Given the description of an element on the screen output the (x, y) to click on. 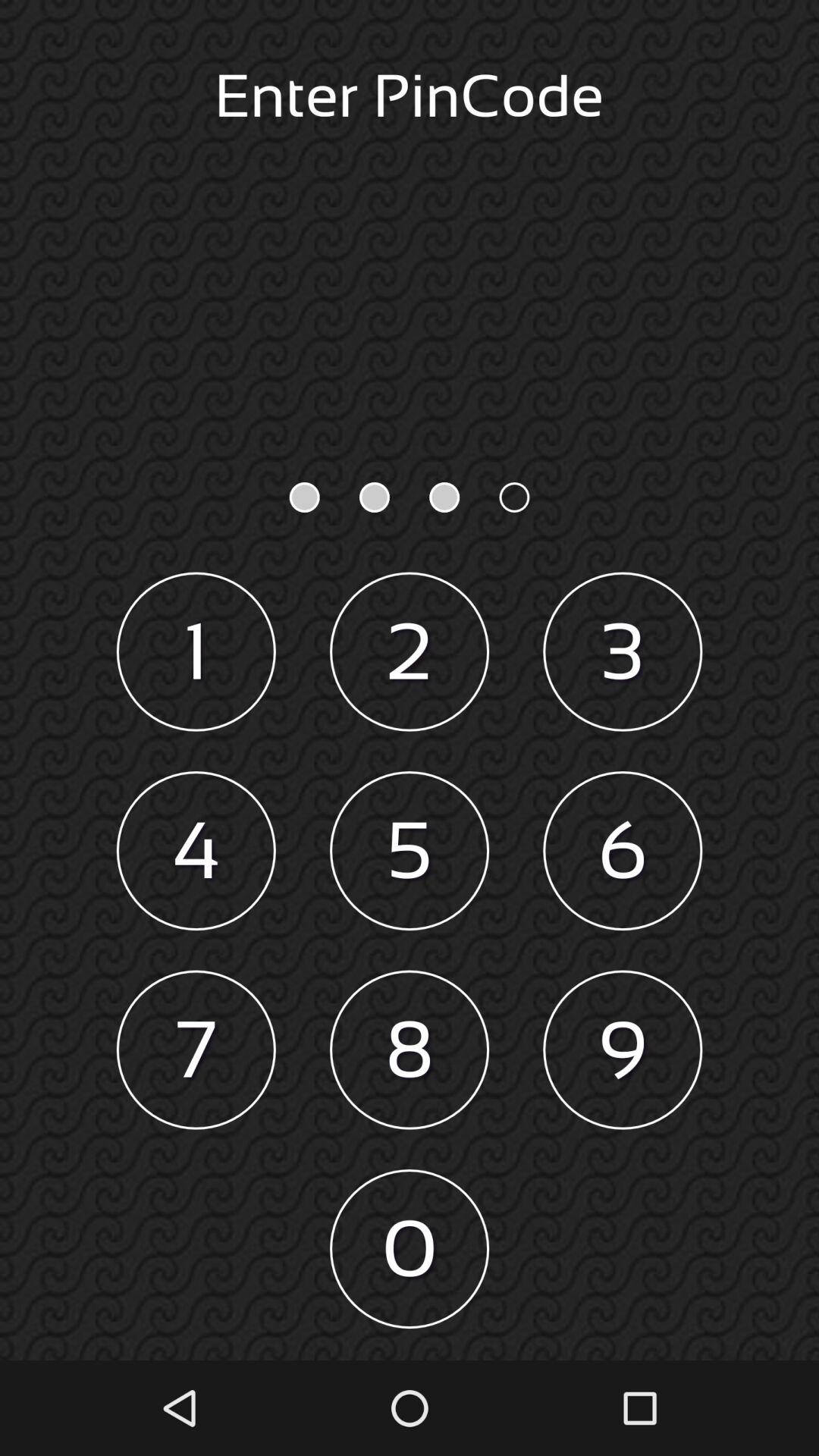
click item next to the 8 item (195, 1049)
